Given the description of an element on the screen output the (x, y) to click on. 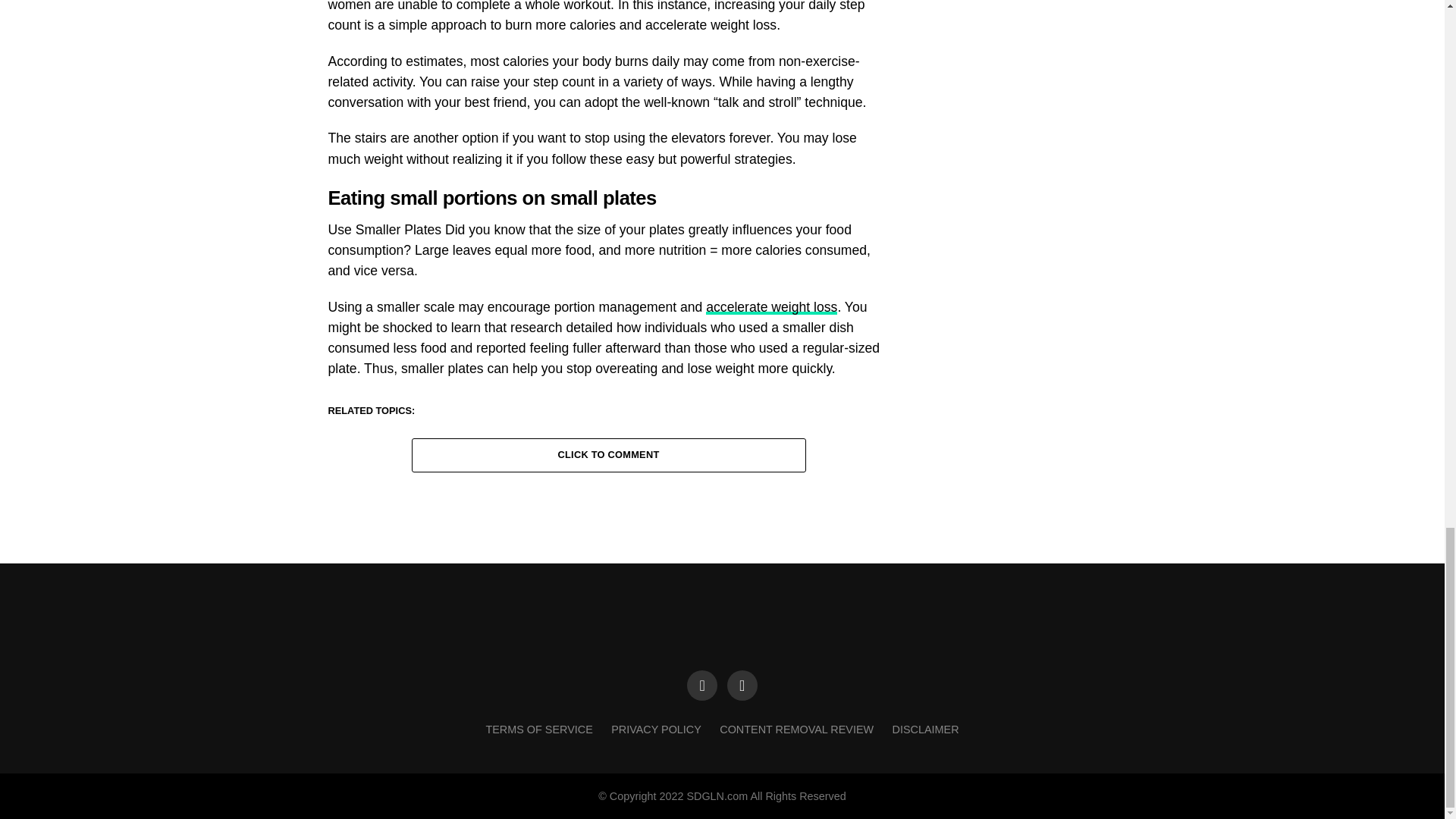
accelerate weight loss (771, 306)
CONTENT REMOVAL REVIEW (796, 729)
DISCLAIMER (925, 729)
PRIVACY POLICY (656, 729)
TERMS OF SERVICE (538, 729)
